Given the description of an element on the screen output the (x, y) to click on. 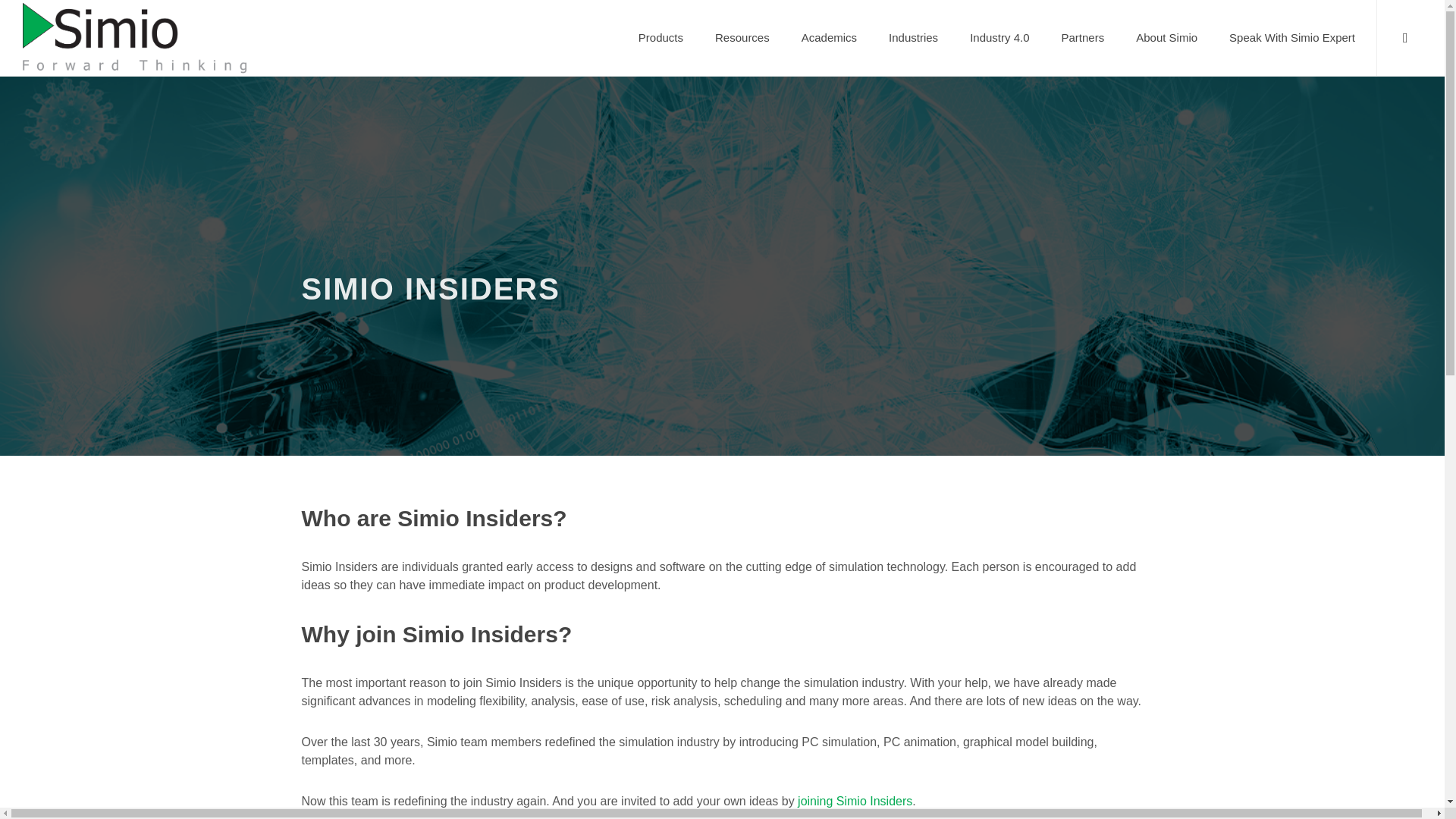
Products (660, 38)
Resources (742, 38)
Industries (913, 38)
Academics (829, 38)
